Given the description of an element on the screen output the (x, y) to click on. 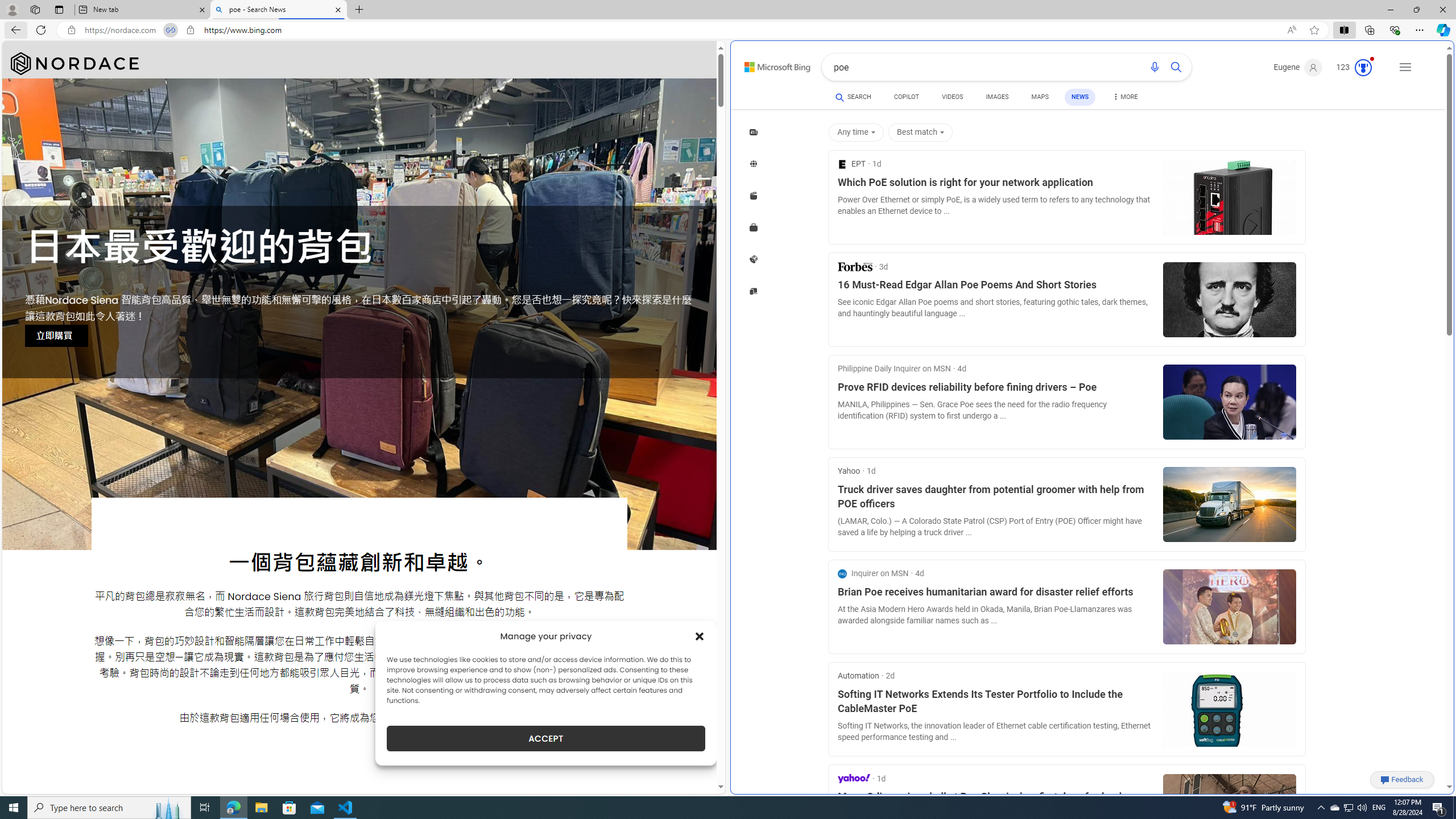
ACCEPT (545, 738)
Search button (1176, 66)
Dropdown Menu (1124, 96)
Tabs in split screen (170, 29)
Yahoo (853, 777)
MAPS (1040, 98)
Search news from EPT (851, 163)
Search news about Top stories (754, 132)
Search news about Sports (754, 258)
Search news from Automation (858, 675)
Any time (858, 132)
Settings and quick links (1404, 67)
